Given the description of an element on the screen output the (x, y) to click on. 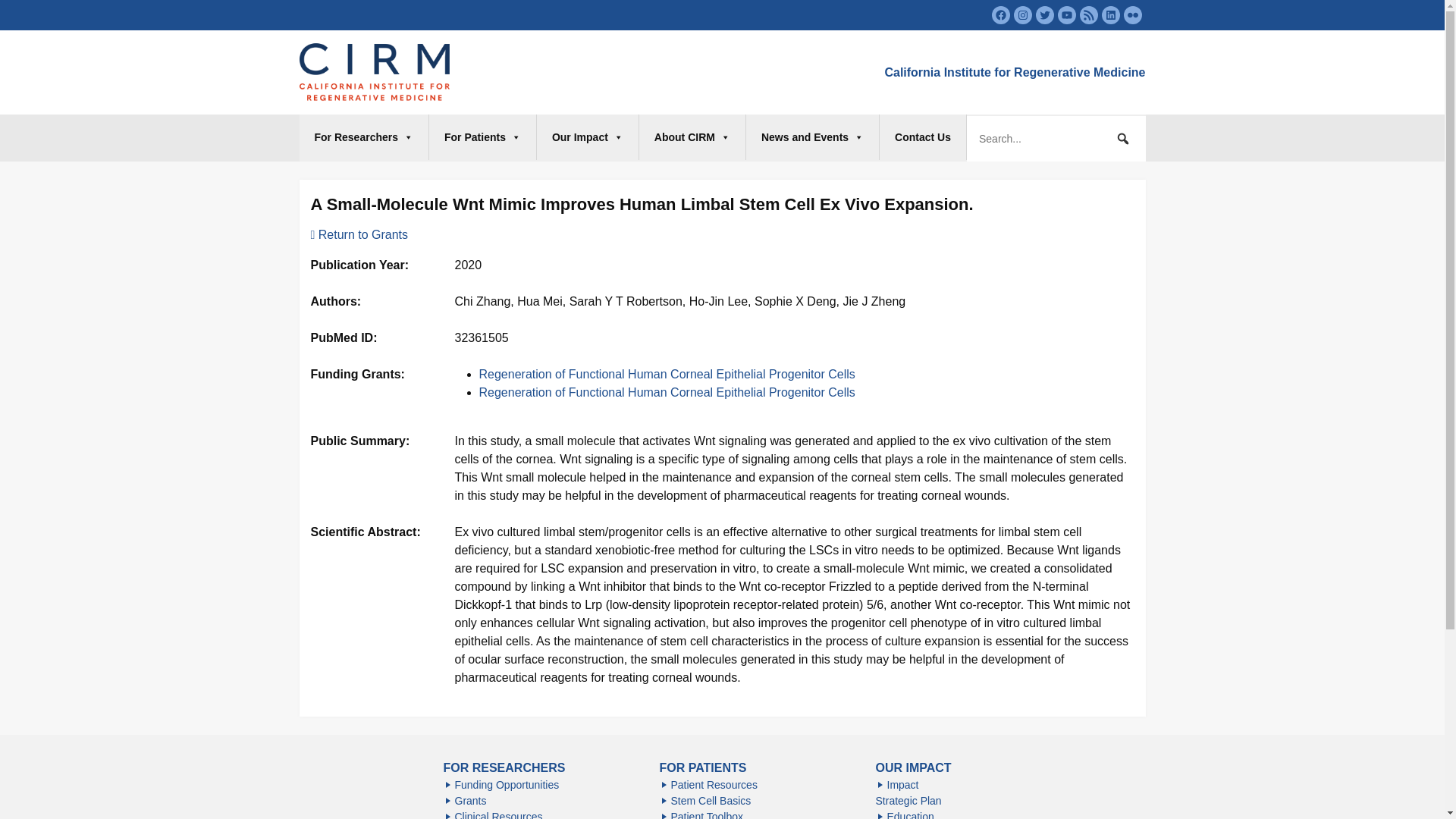
For Researchers (363, 136)
